Given the description of an element on the screen output the (x, y) to click on. 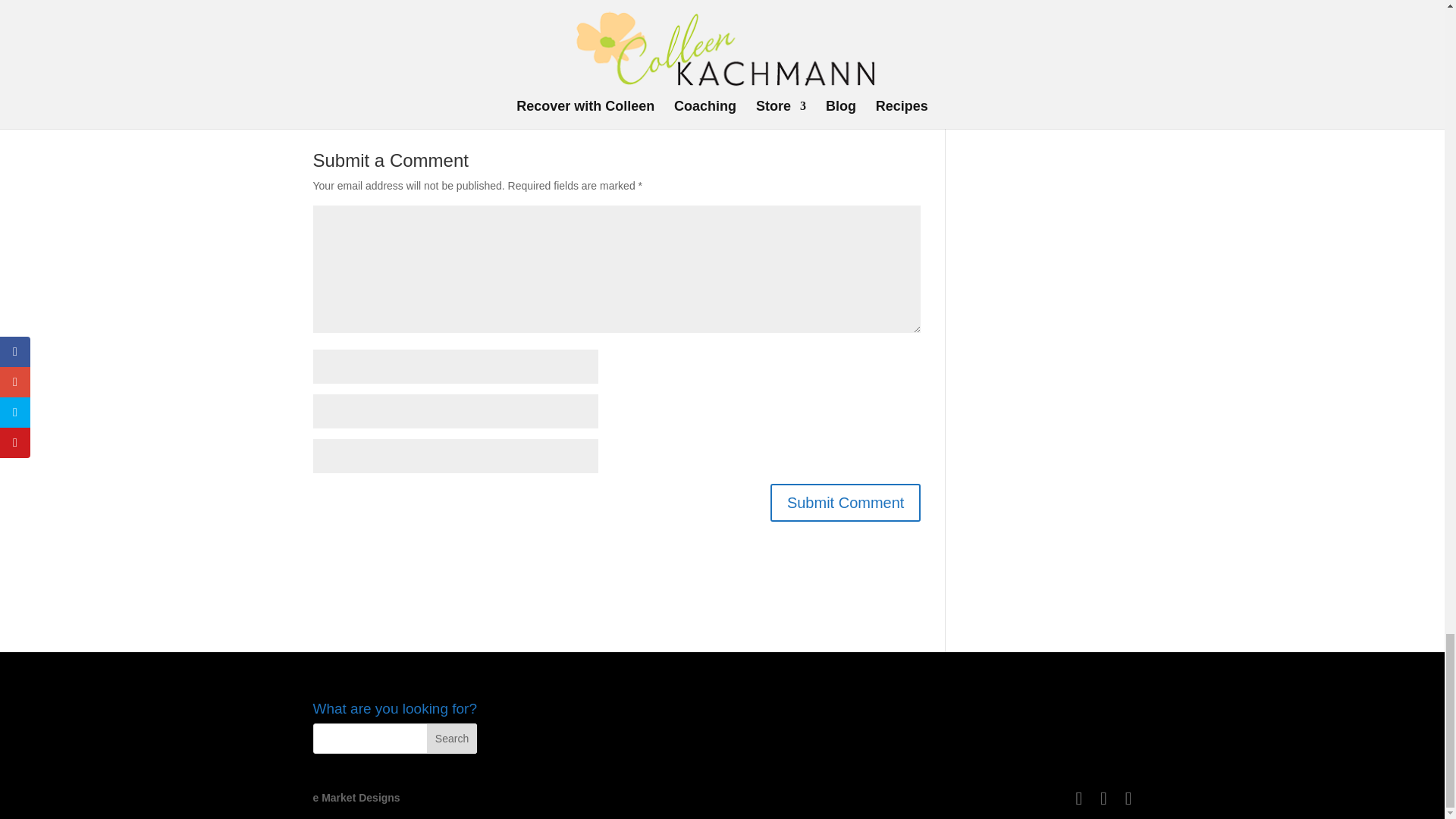
Submit Comment (845, 502)
Colleen Kachmann (474, 1)
Submit Comment (845, 502)
Recover with Colleen (469, 31)
Amazon (730, 63)
YouTube. (834, 63)
Search (451, 738)
